Given the description of an element on the screen output the (x, y) to click on. 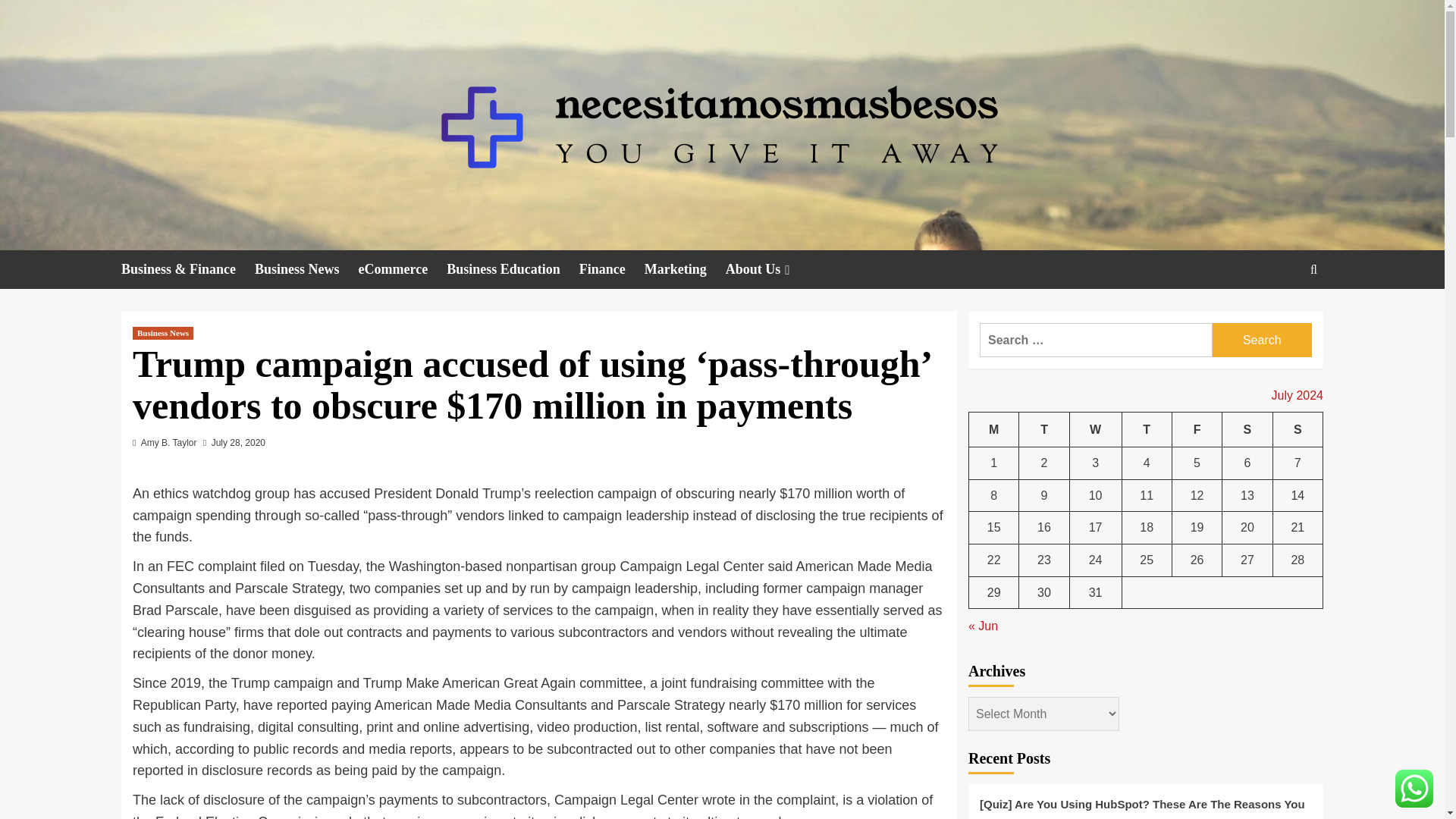
Search (1261, 339)
Saturday (1247, 429)
Business News (162, 332)
About Us (769, 269)
Monday (994, 429)
Search (1261, 339)
Business News (306, 269)
Friday (1196, 429)
July 28, 2020 (237, 442)
Sunday (1297, 429)
Thursday (1146, 429)
Marketing (685, 269)
Amy B. Taylor (168, 442)
eCommerce (402, 269)
Search (1278, 315)
